Given the description of an element on the screen output the (x, y) to click on. 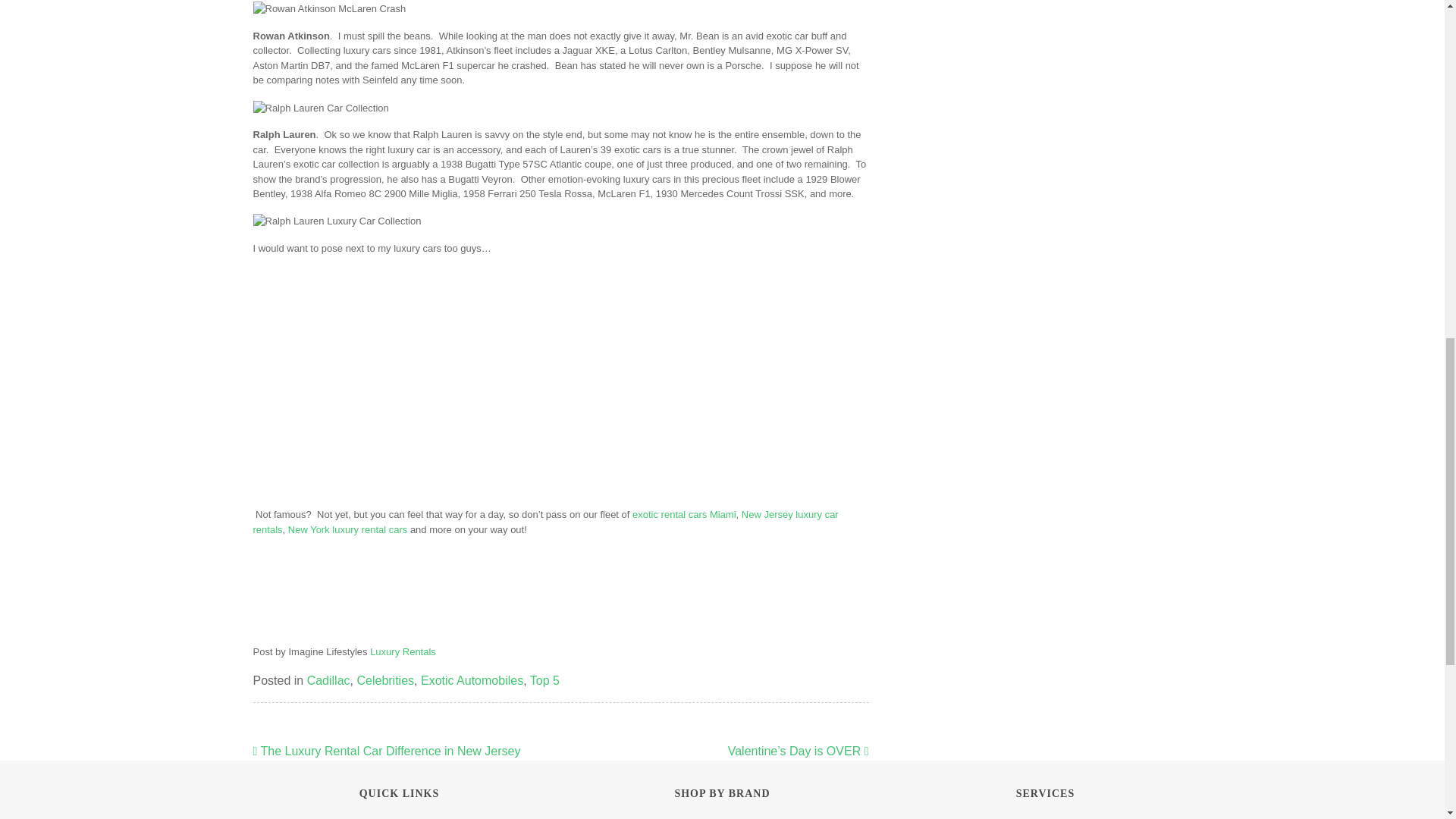
exotic rental cars Miami (683, 514)
Cadillac (328, 680)
New York luxury rental cars (347, 529)
Luxury Rentals (402, 651)
New Jersey luxury car rentals (545, 521)
Celebrities (384, 680)
